Given the description of an element on the screen output the (x, y) to click on. 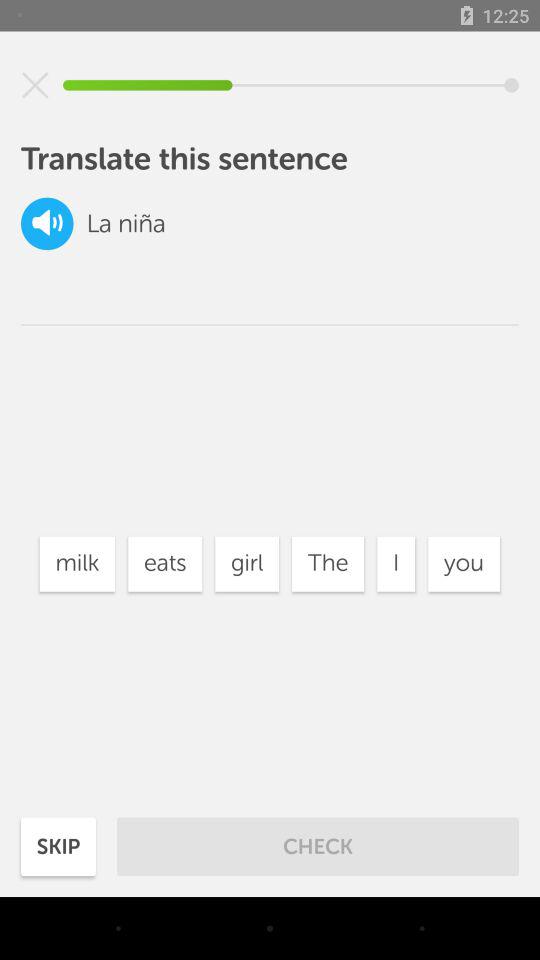
choose icon next to the eats item (246, 563)
